Given the description of an element on the screen output the (x, y) to click on. 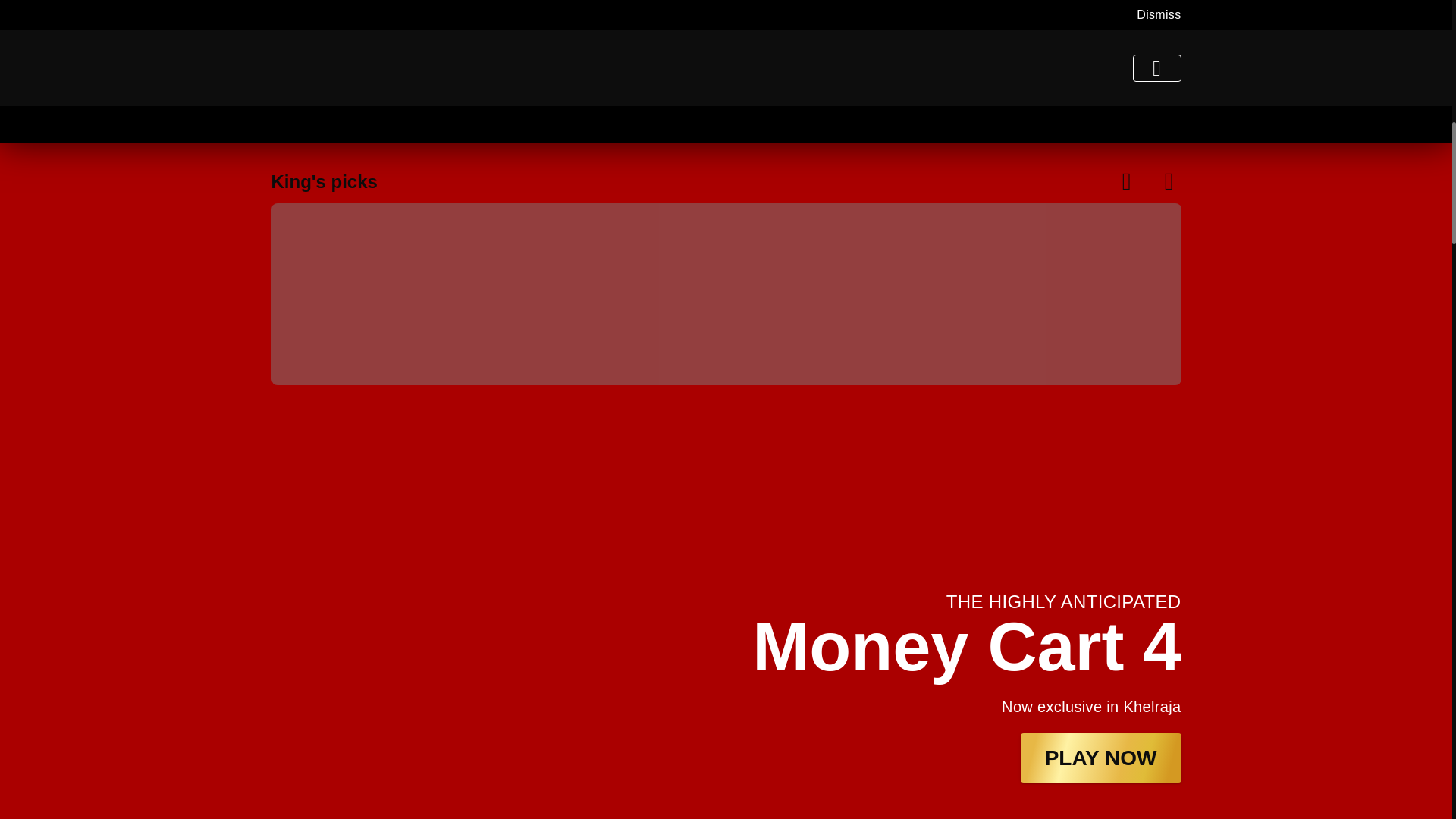
PLAY NOW (1100, 756)
